Given the description of an element on the screen output the (x, y) to click on. 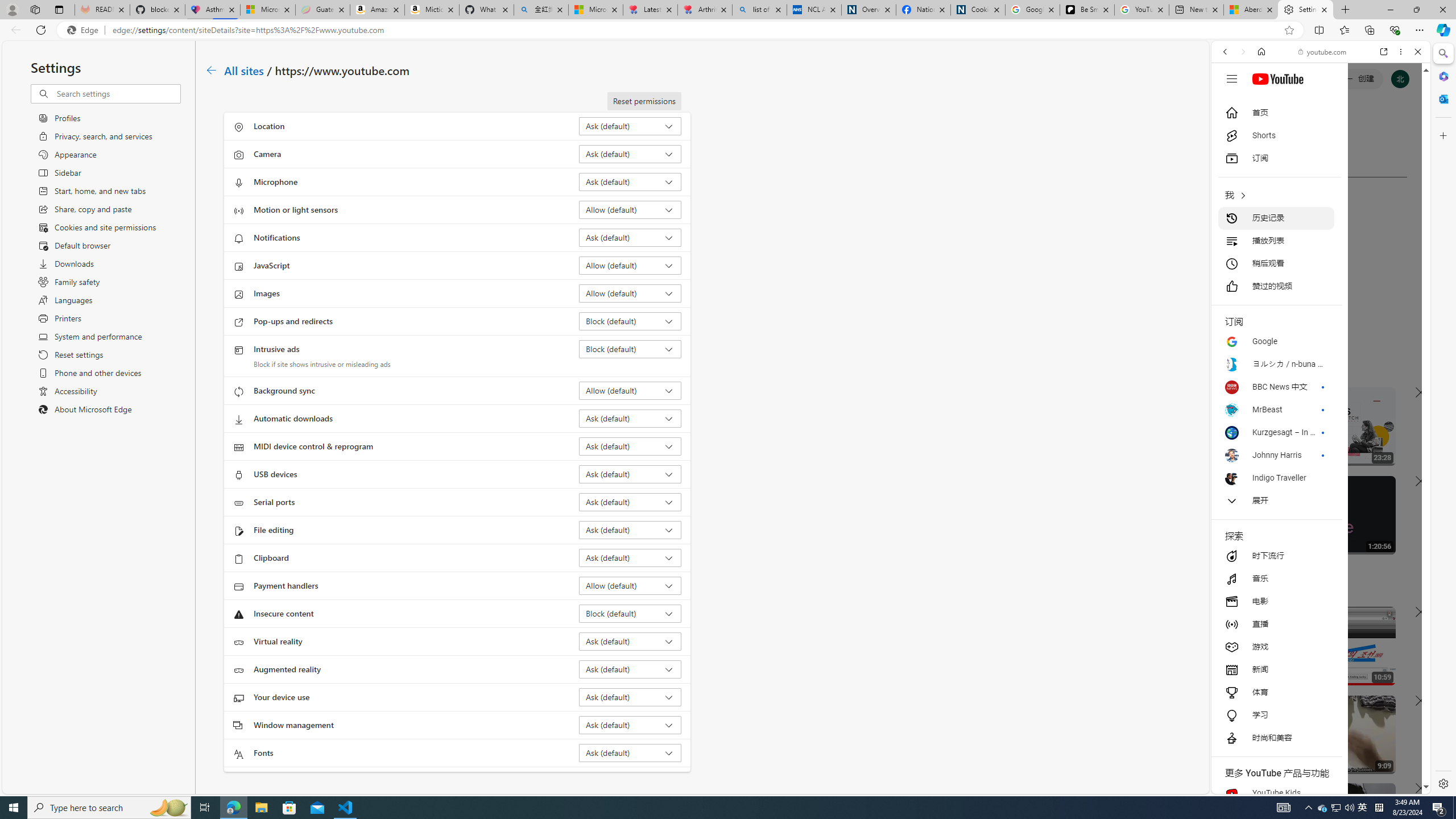
YouTube - YouTube (1315, 560)
Payment handlers Allow (default) (630, 585)
File editing Ask (default) (630, 529)
Automatic downloads Ask (default) (630, 418)
